Given the description of an element on the screen output the (x, y) to click on. 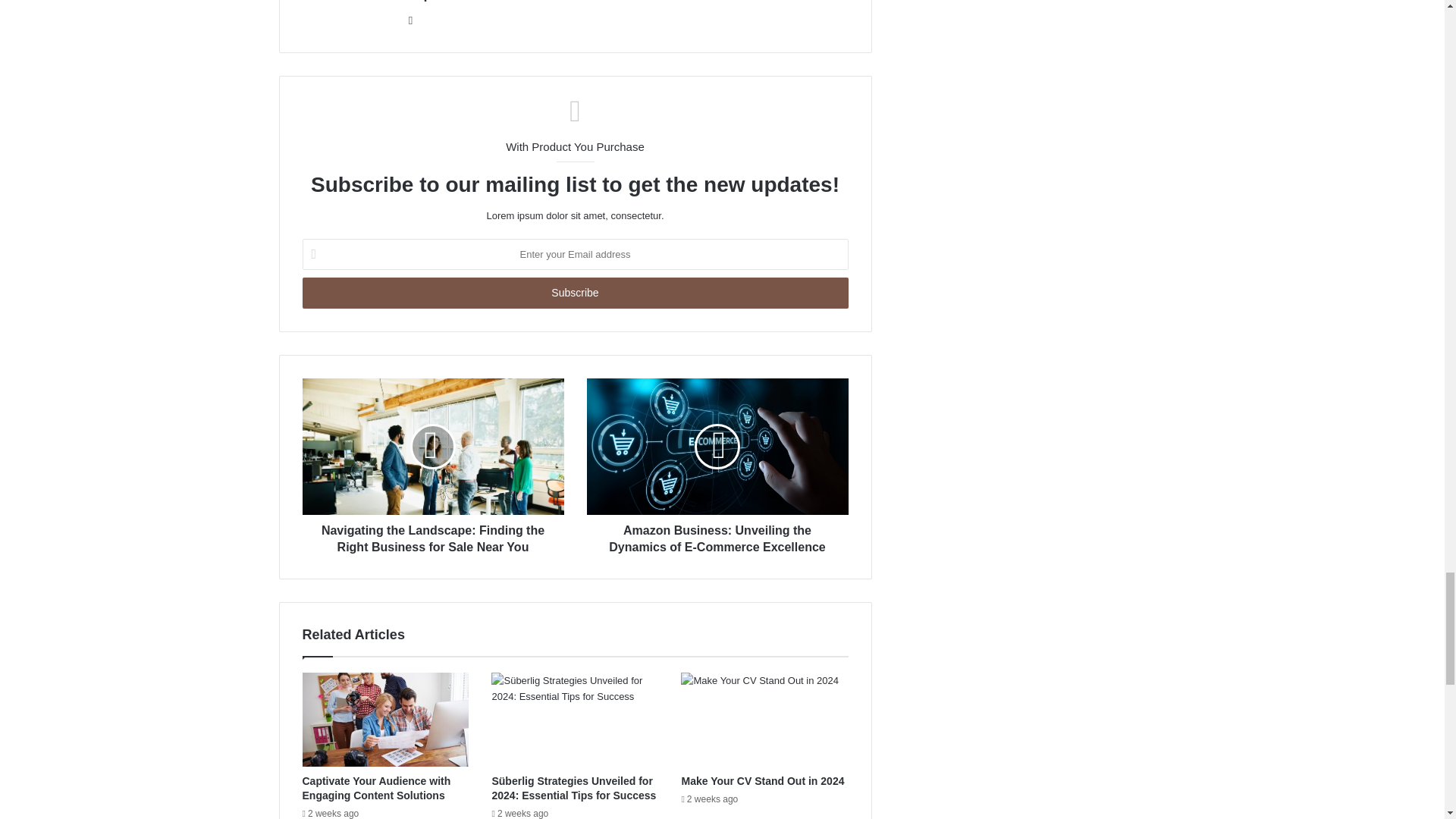
Subscribe (574, 292)
